Given the description of an element on the screen output the (x, y) to click on. 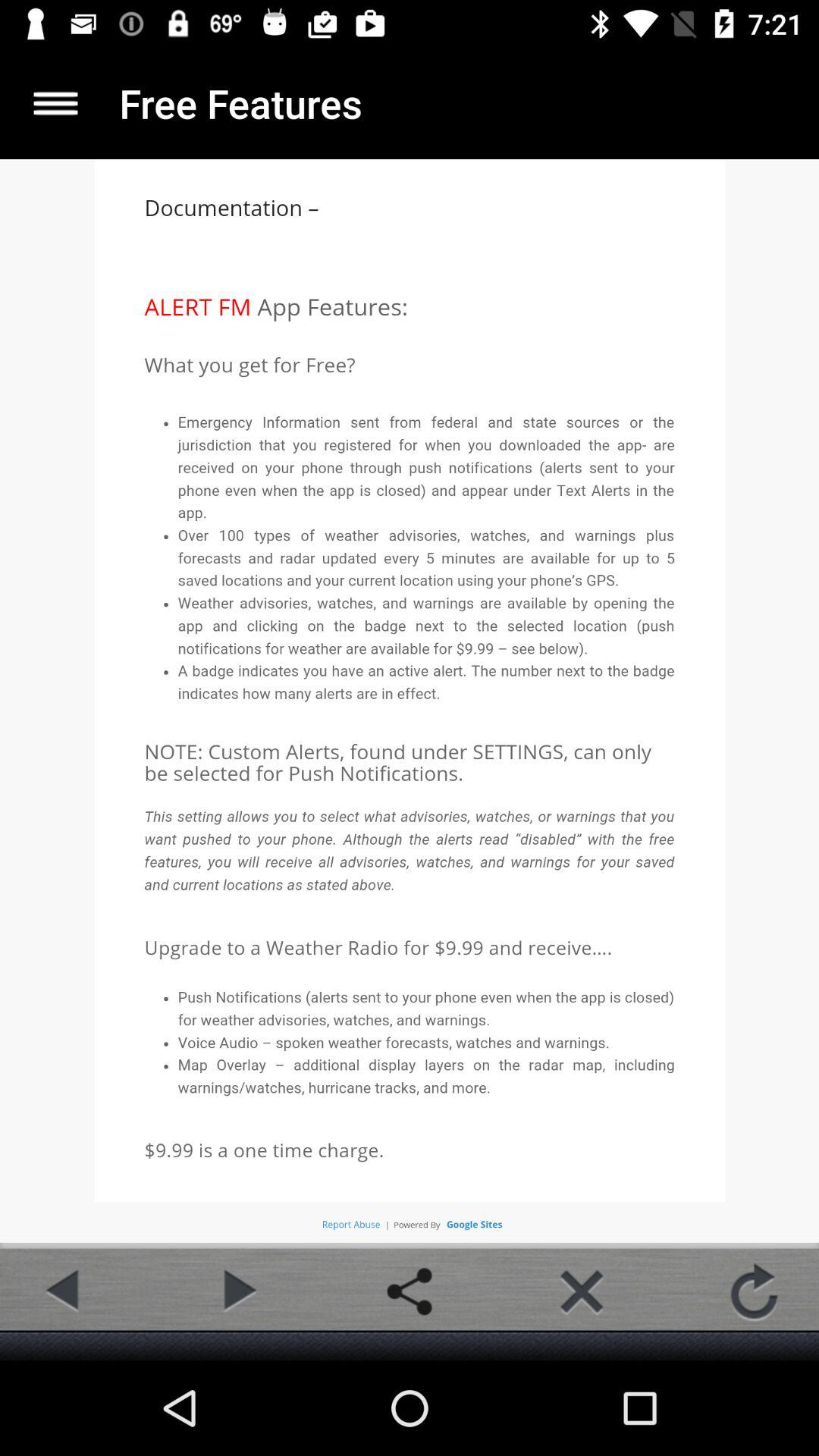
menu option (55, 103)
